Given the description of an element on the screen output the (x, y) to click on. 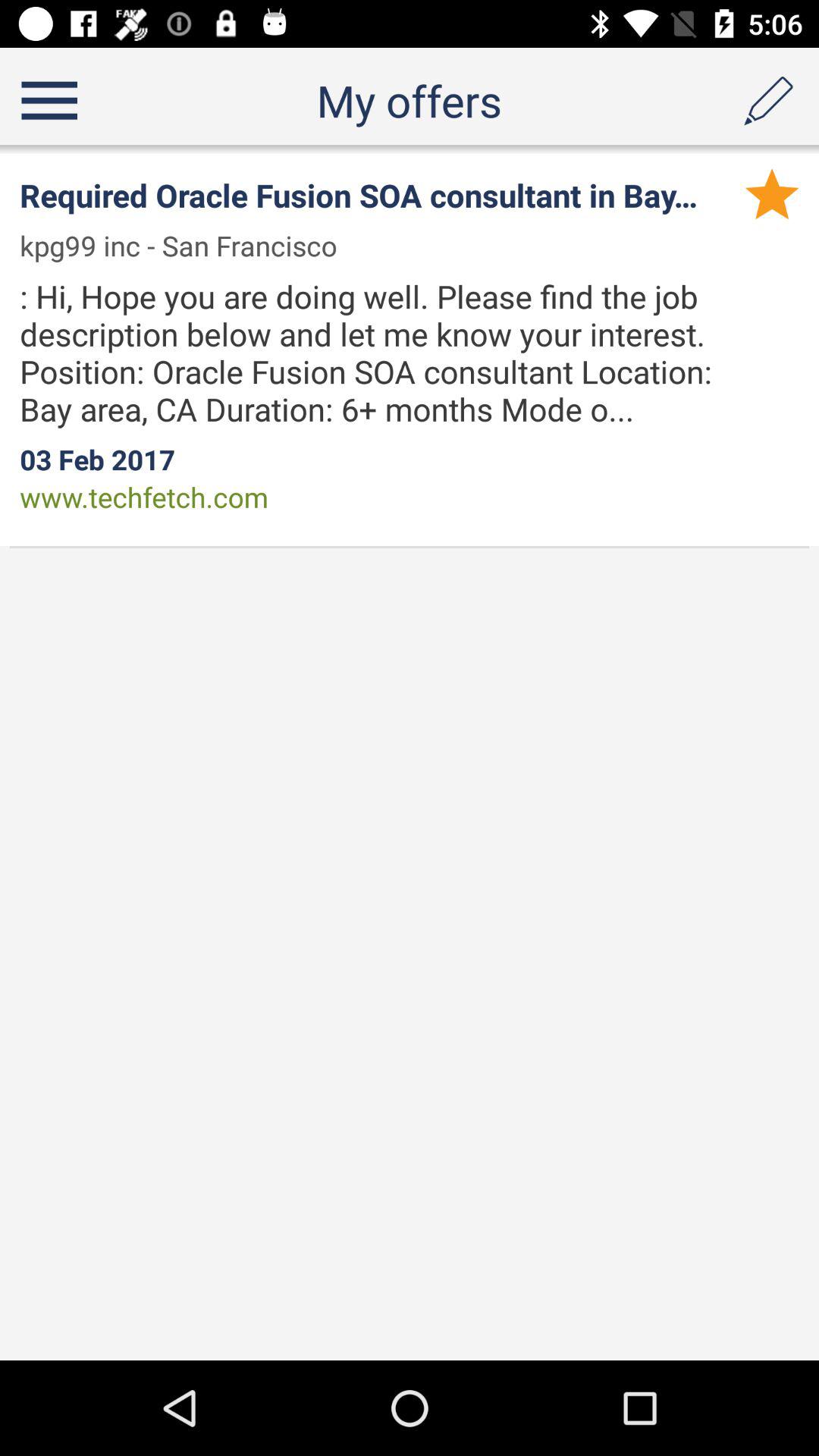
swipe to kpg99 inc san item (188, 245)
